Given the description of an element on the screen output the (x, y) to click on. 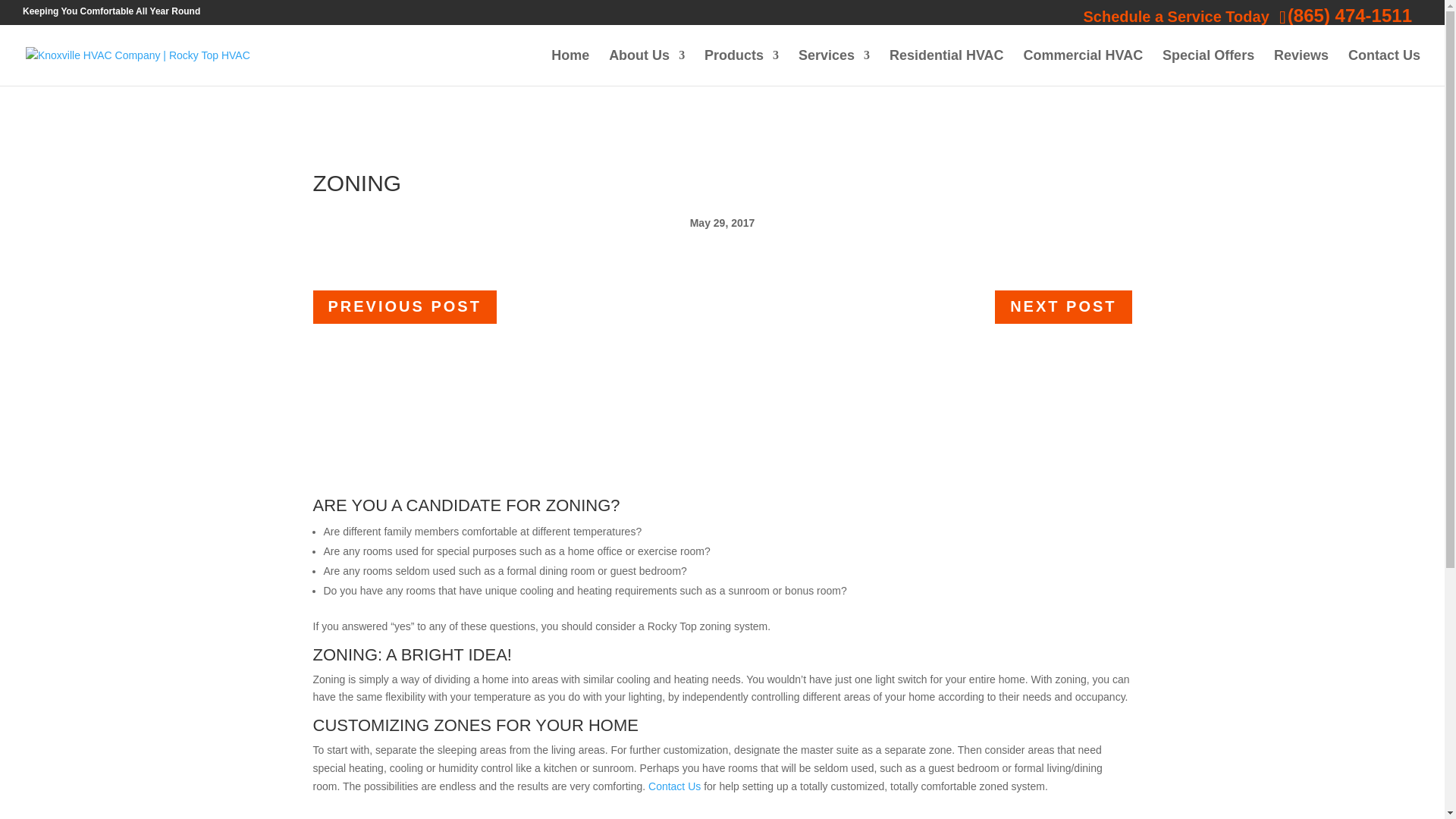
Home (570, 67)
Contact Us (1384, 67)
About Us (646, 67)
NEXT POST (1062, 306)
Contact Us (673, 786)
Services (833, 67)
Schedule a Service Today (1175, 16)
Commercial HVAC (1082, 67)
PREVIOUS POST (404, 306)
Residential HVAC (946, 67)
